Given the description of an element on the screen output the (x, y) to click on. 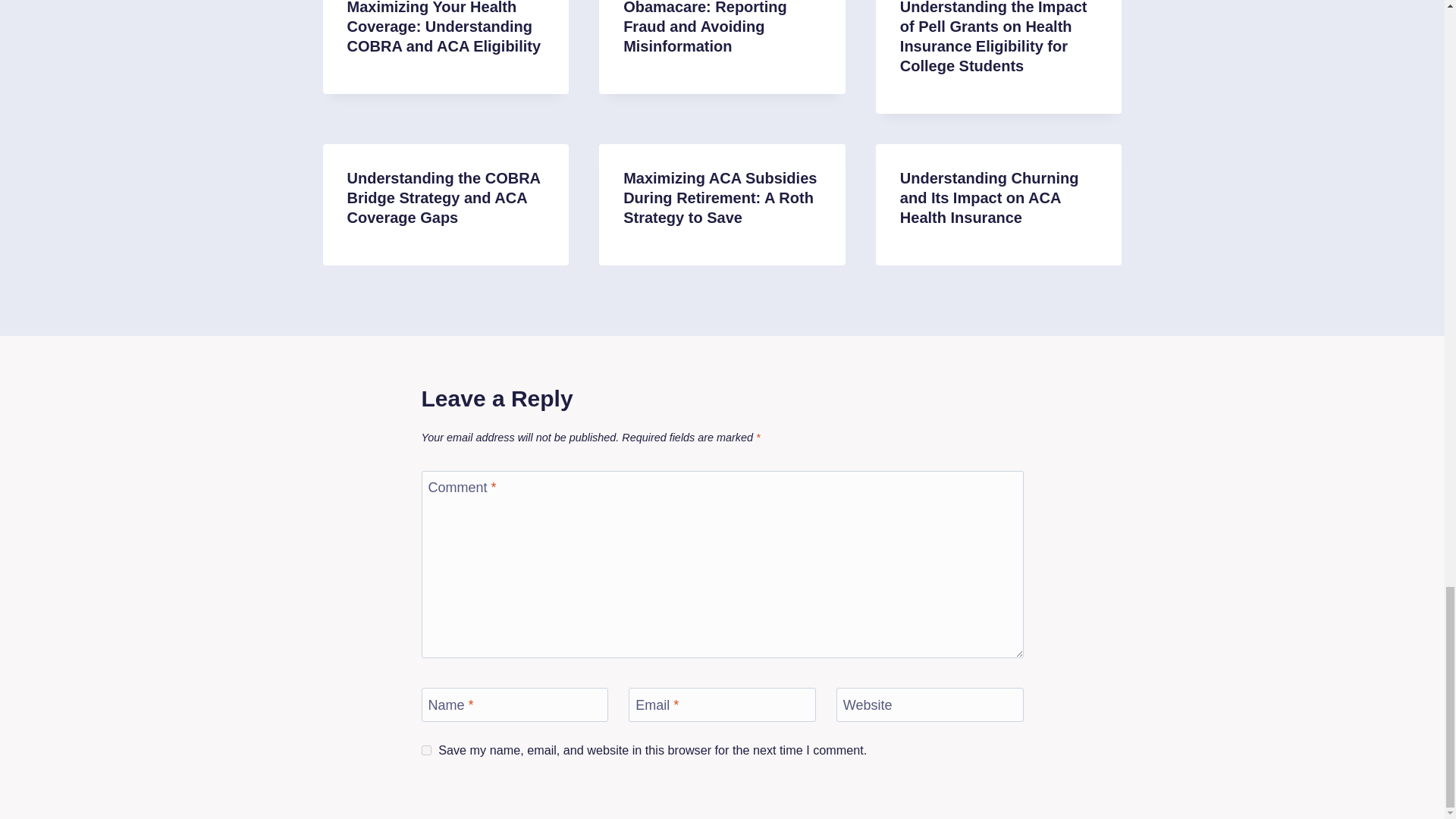
Obamacare: Reporting Fraud and Avoiding Misinformation (705, 27)
yes (426, 750)
